Given the description of an element on the screen output the (x, y) to click on. 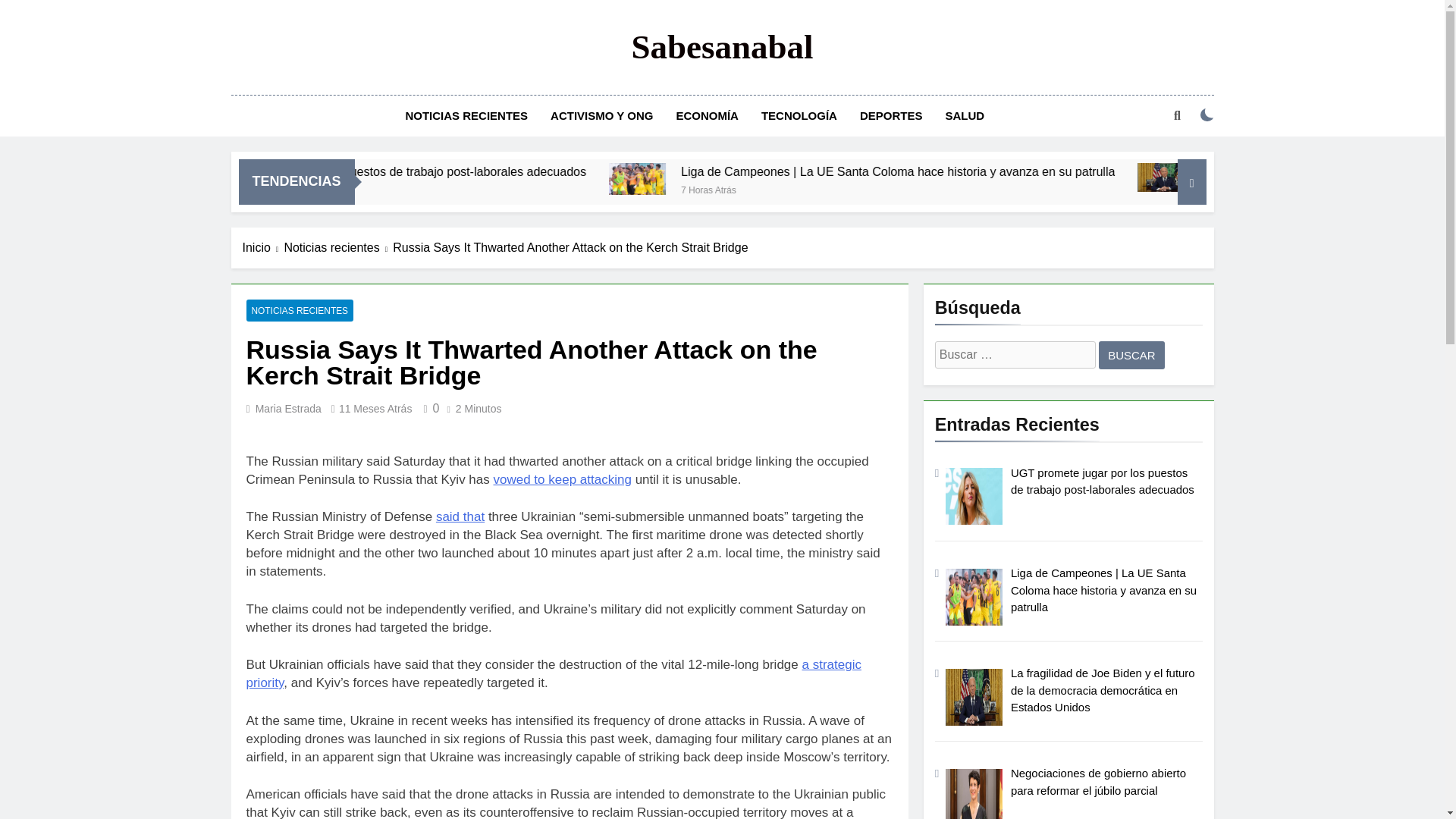
on (1206, 115)
Buscar (1131, 355)
NOTICIAS RECIENTES (465, 115)
ACTIVISMO Y ONG (600, 115)
DEPORTES (891, 115)
Sabesanabal (721, 46)
SALUD (964, 115)
Buscar (1131, 355)
